Given the description of an element on the screen output the (x, y) to click on. 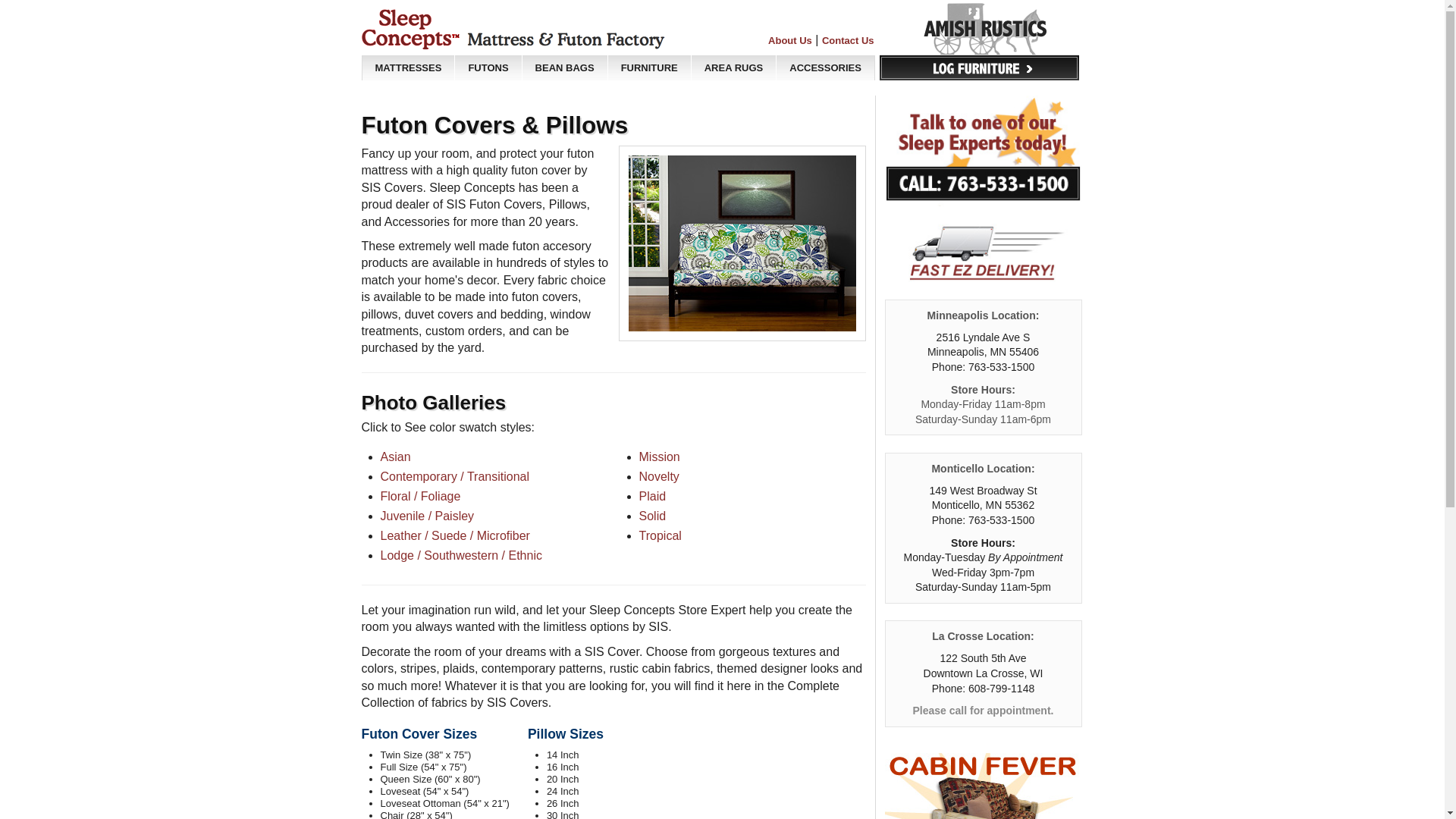
Contact Us (848, 40)
FUTONS (487, 67)
MATTRESSES (408, 67)
About Us (790, 40)
BEAN BAGS (564, 67)
AREA RUGS (733, 67)
ACCESSORIES (825, 67)
FURNITURE (649, 67)
